Given the description of an element on the screen output the (x, y) to click on. 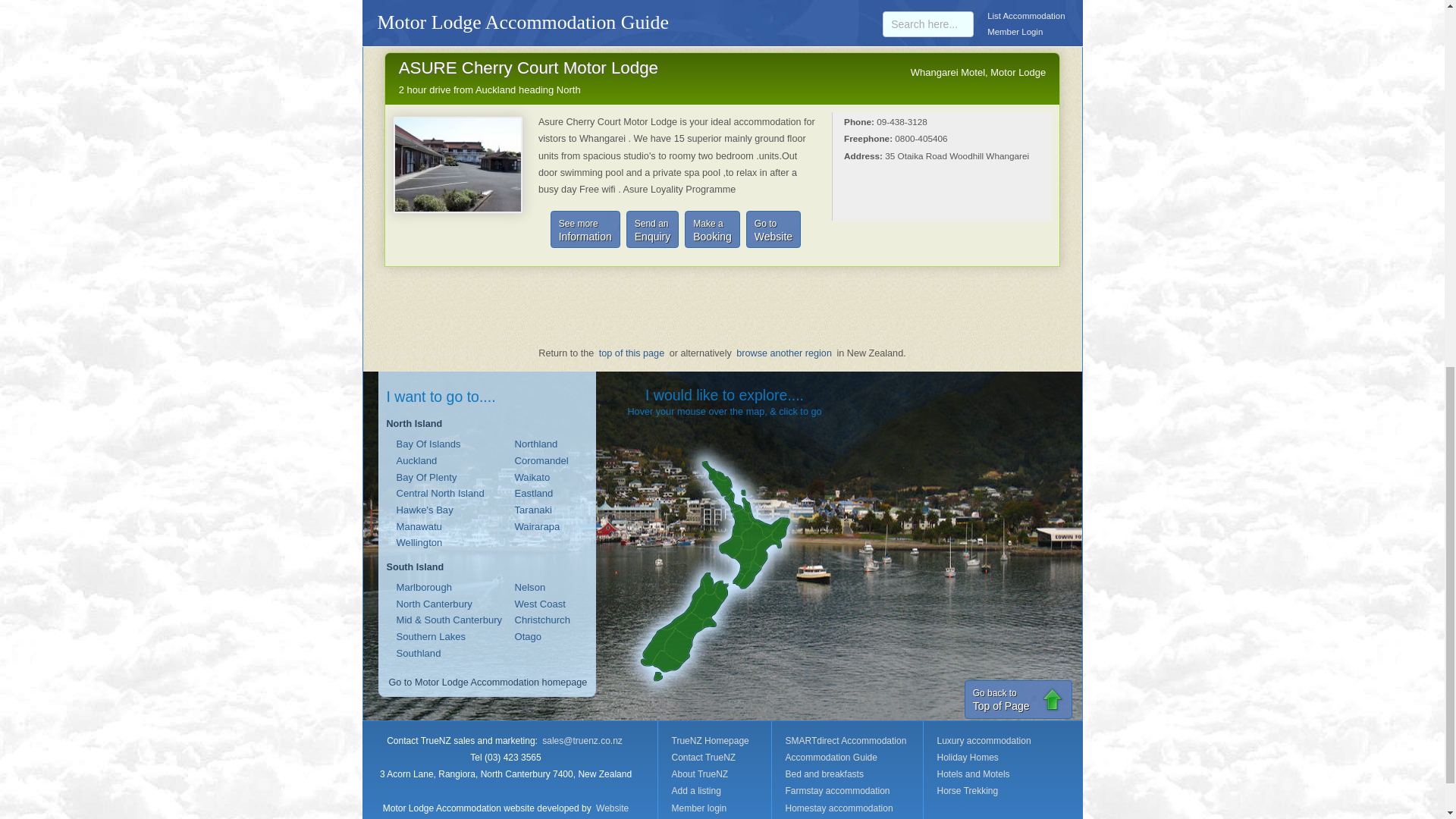
top of this page (631, 353)
Eastland (772, 229)
Central North Island (534, 493)
Coromandel (440, 493)
Hawke's Bay (541, 460)
browse another region (424, 510)
Waikato (652, 229)
Bay Of Islands (783, 353)
Auckland (532, 477)
top of this page (1017, 699)
Bay Of Plenty (428, 443)
